Given the description of an element on the screen output the (x, y) to click on. 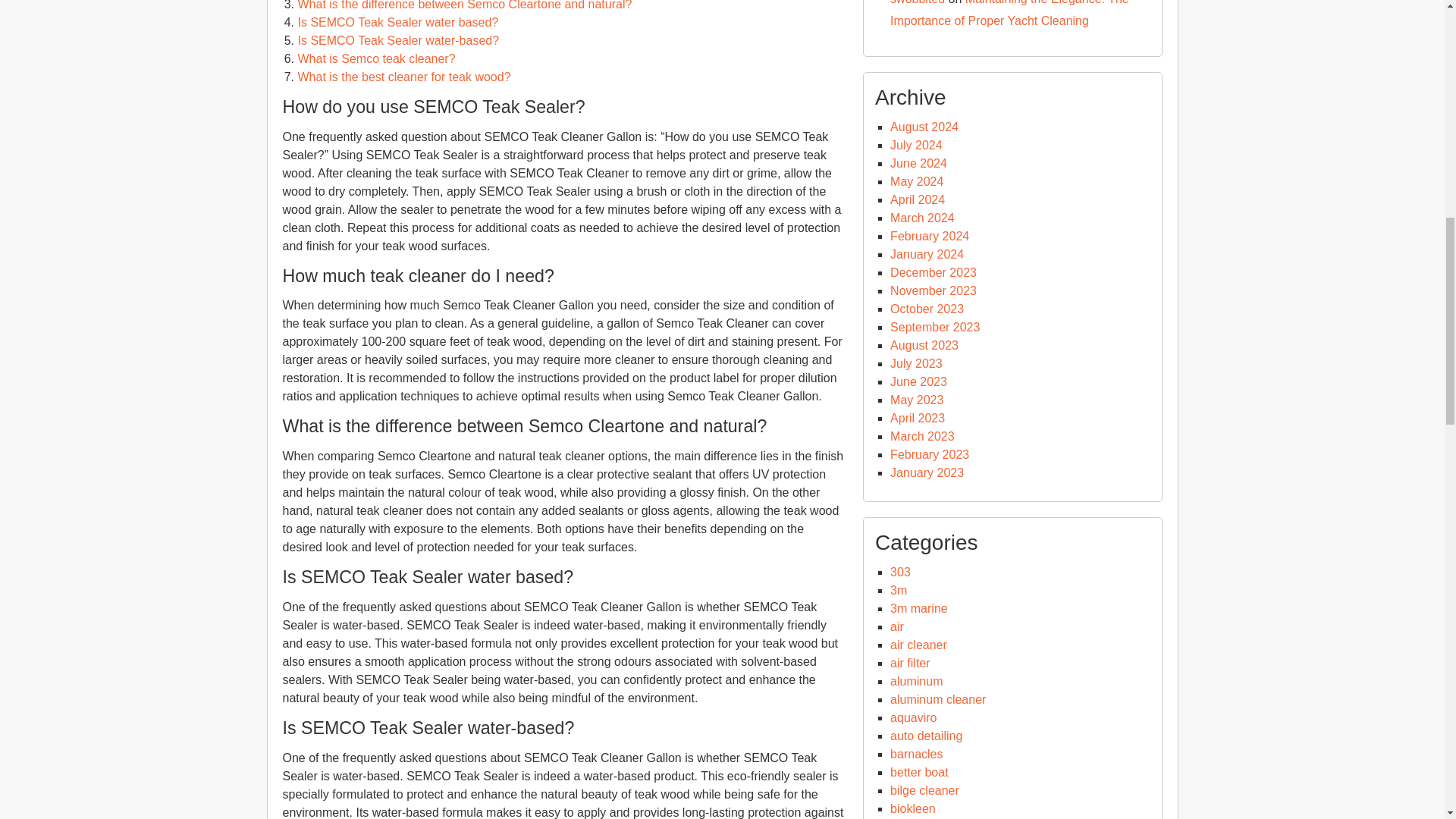
Is SEMCO Teak Sealer water-based? (398, 40)
What is the difference between Semco Cleartone and natural? (464, 5)
What is the best cleaner for teak wood? (404, 76)
What is Semco teak cleaner? (375, 58)
Is SEMCO Teak Sealer water based? (397, 21)
